Given the description of an element on the screen output the (x, y) to click on. 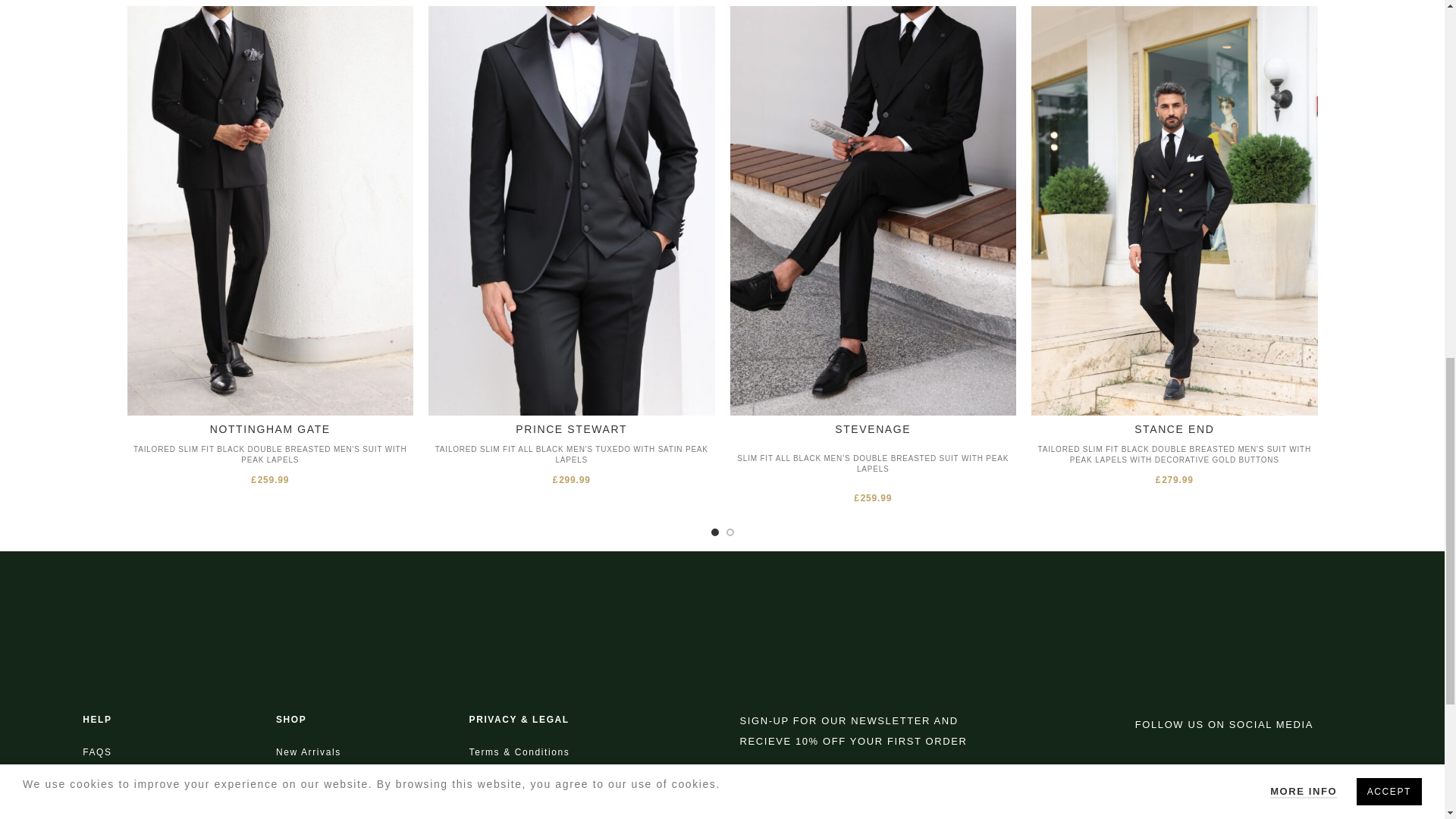
Submit (876, 816)
